Given the description of an element on the screen output the (x, y) to click on. 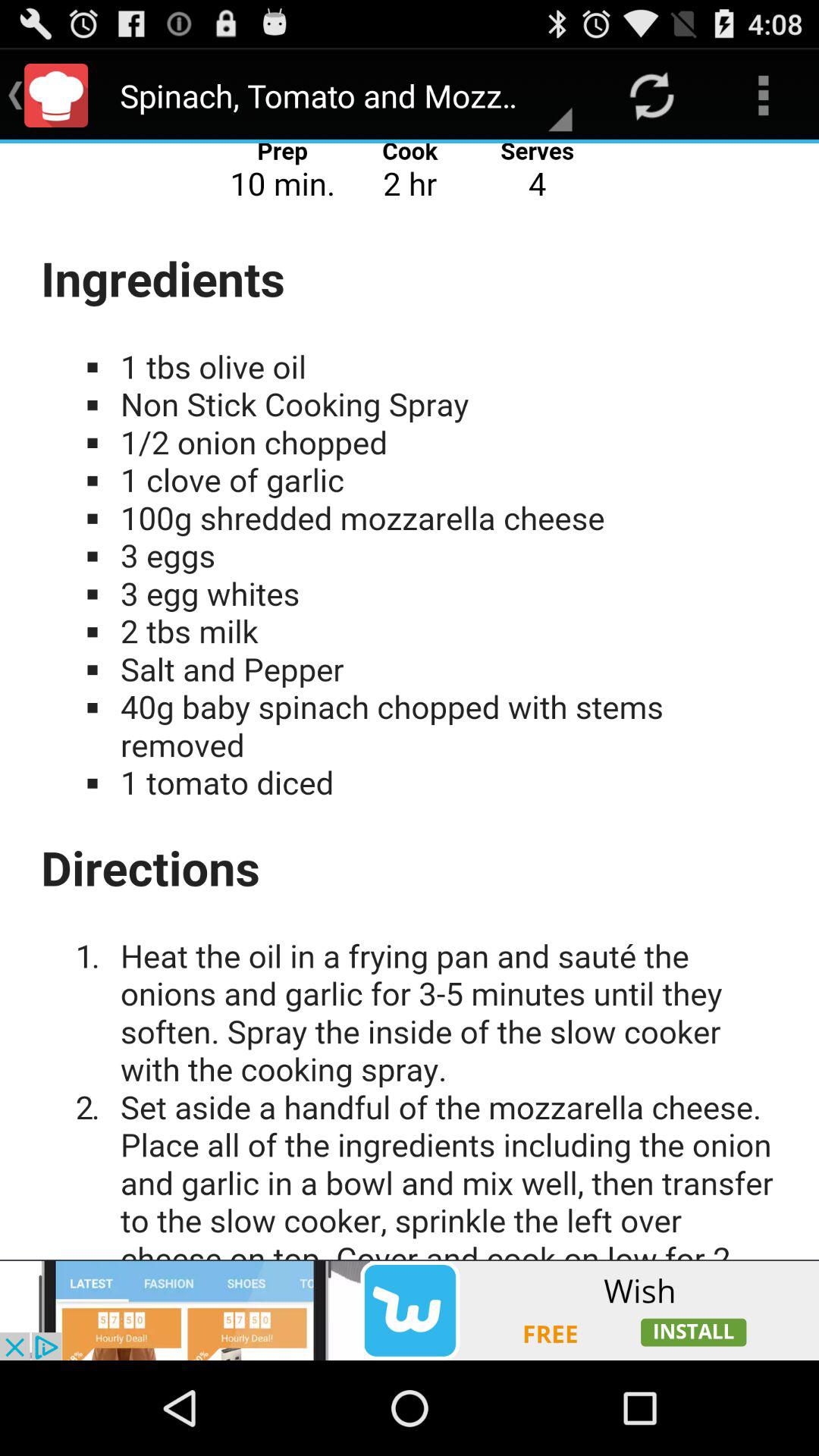
read recipe (409, 701)
